Given the description of an element on the screen output the (x, y) to click on. 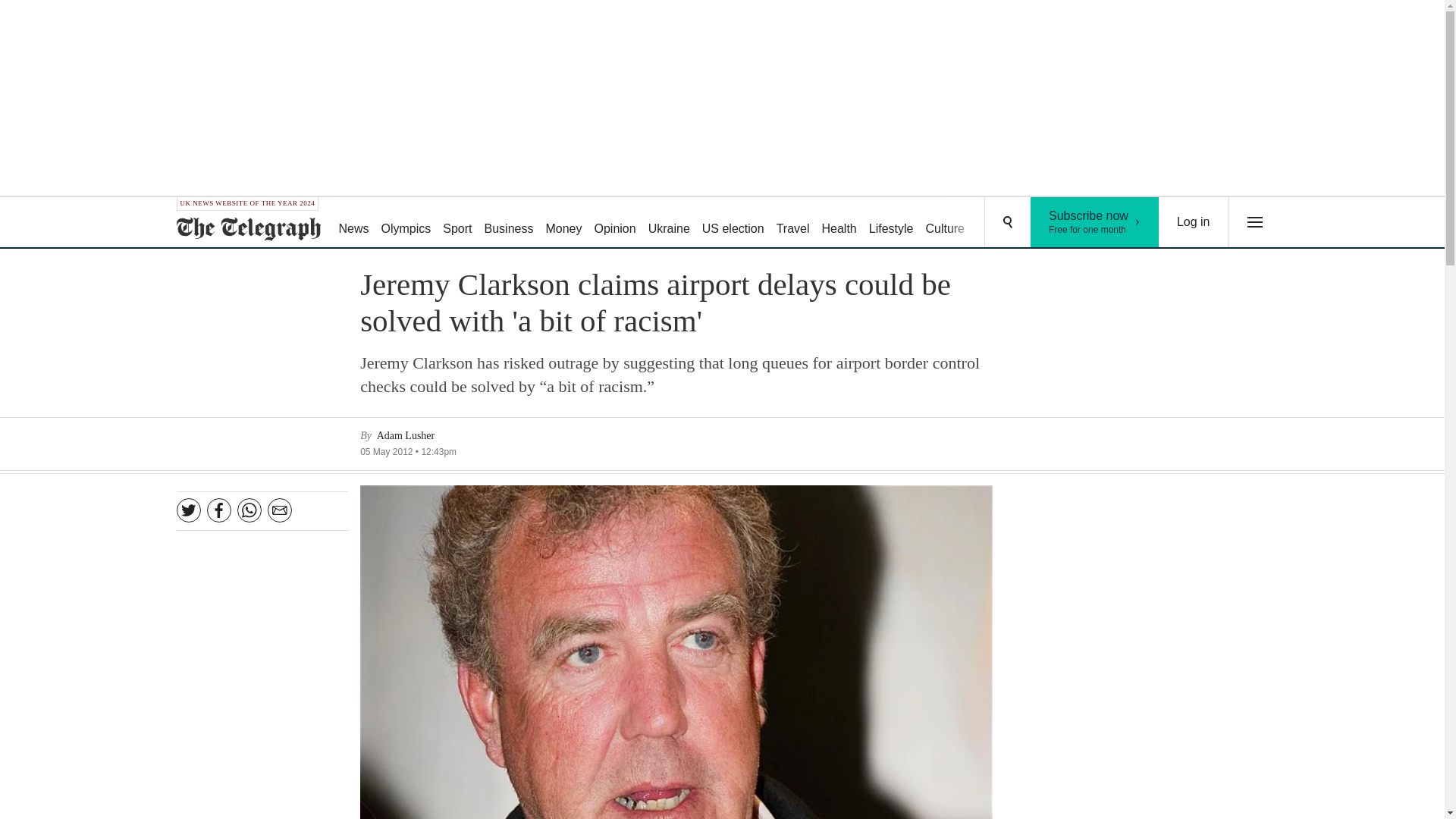
Travel (1094, 222)
Olympics (792, 223)
US election (406, 223)
Business (732, 223)
Log in (509, 223)
Money (1193, 222)
Opinion (563, 223)
Ukraine (615, 223)
Health (668, 223)
